Given the description of an element on the screen output the (x, y) to click on. 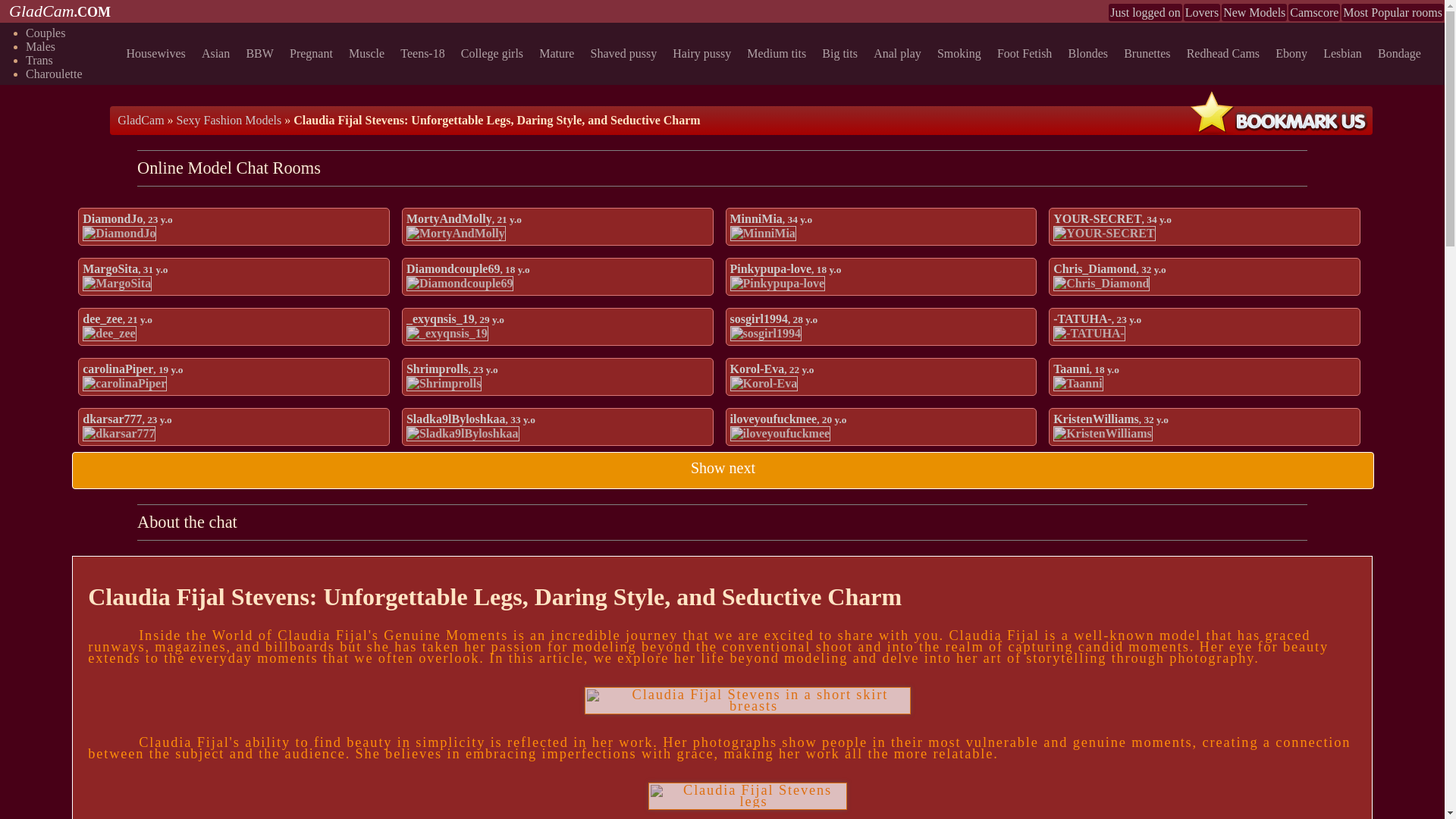
Live Sex Cams with Korol-Eva (763, 383)
Pregnant (313, 52)
Live Sex Cams with DiamondJo (118, 233)
Live Sex Cams with Pinkypupa-love (777, 283)
Lovers (1201, 12)
MortyAndMolly, 21 y.o (463, 218)
Smoking (962, 52)
DiamondJo, 23 y.o (126, 218)
Shaved pussy (626, 52)
Live Sex Cams with MargoSita (116, 283)
Redhead Cams (1225, 52)
Sexy Fashion Models (229, 119)
Hairy pussy (704, 52)
New Models (1254, 12)
Most Popular rooms (1392, 12)
